Given the description of an element on the screen output the (x, y) to click on. 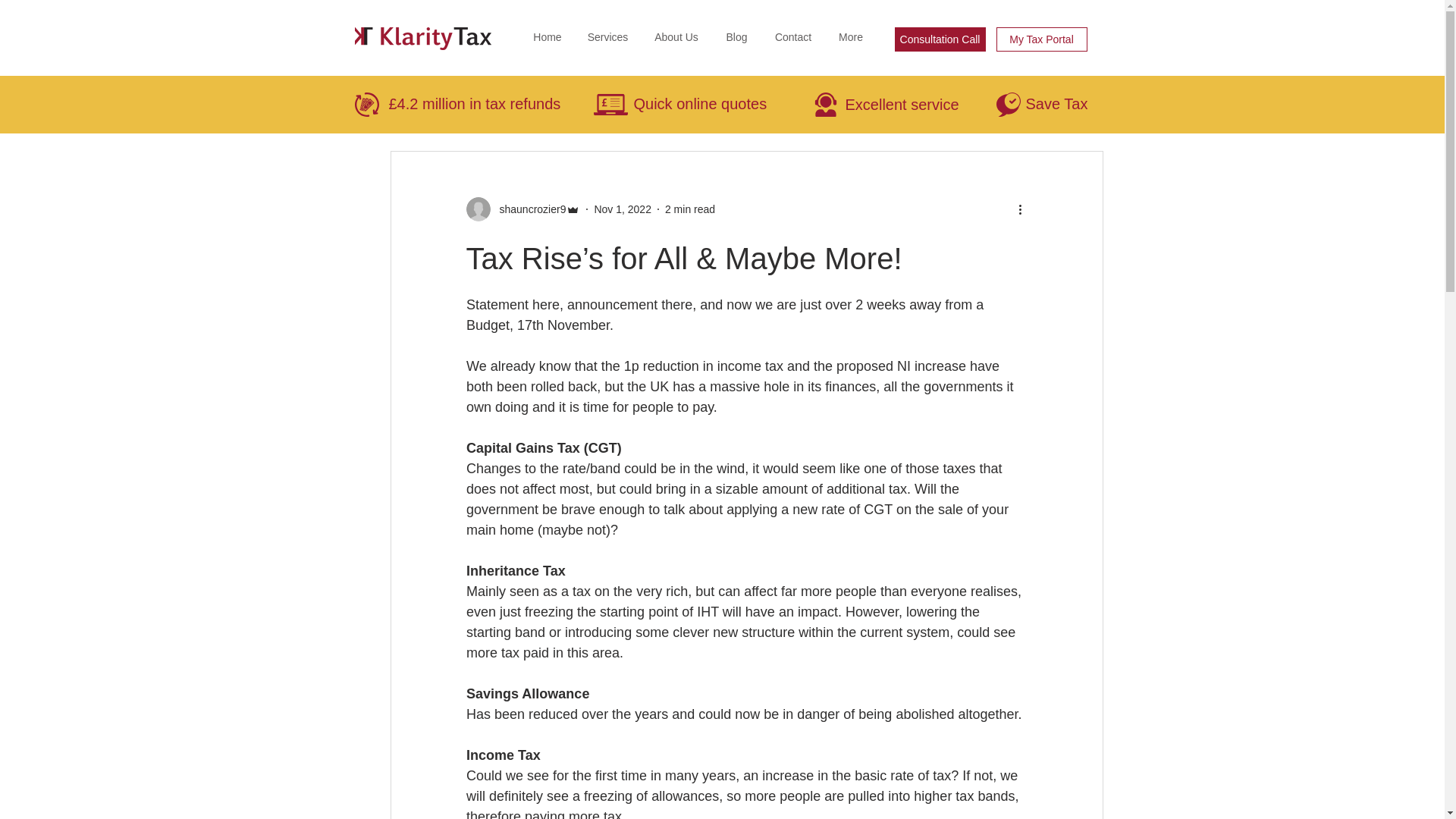
My Tax Portal (1041, 39)
shauncrozier9 (522, 209)
About Us (675, 36)
Nov 1, 2022 (622, 209)
shauncrozier9 (527, 209)
Services (607, 36)
Consultation Call (940, 39)
All Posts (394, 105)
Contact (793, 36)
Home (547, 36)
